Given the description of an element on the screen output the (x, y) to click on. 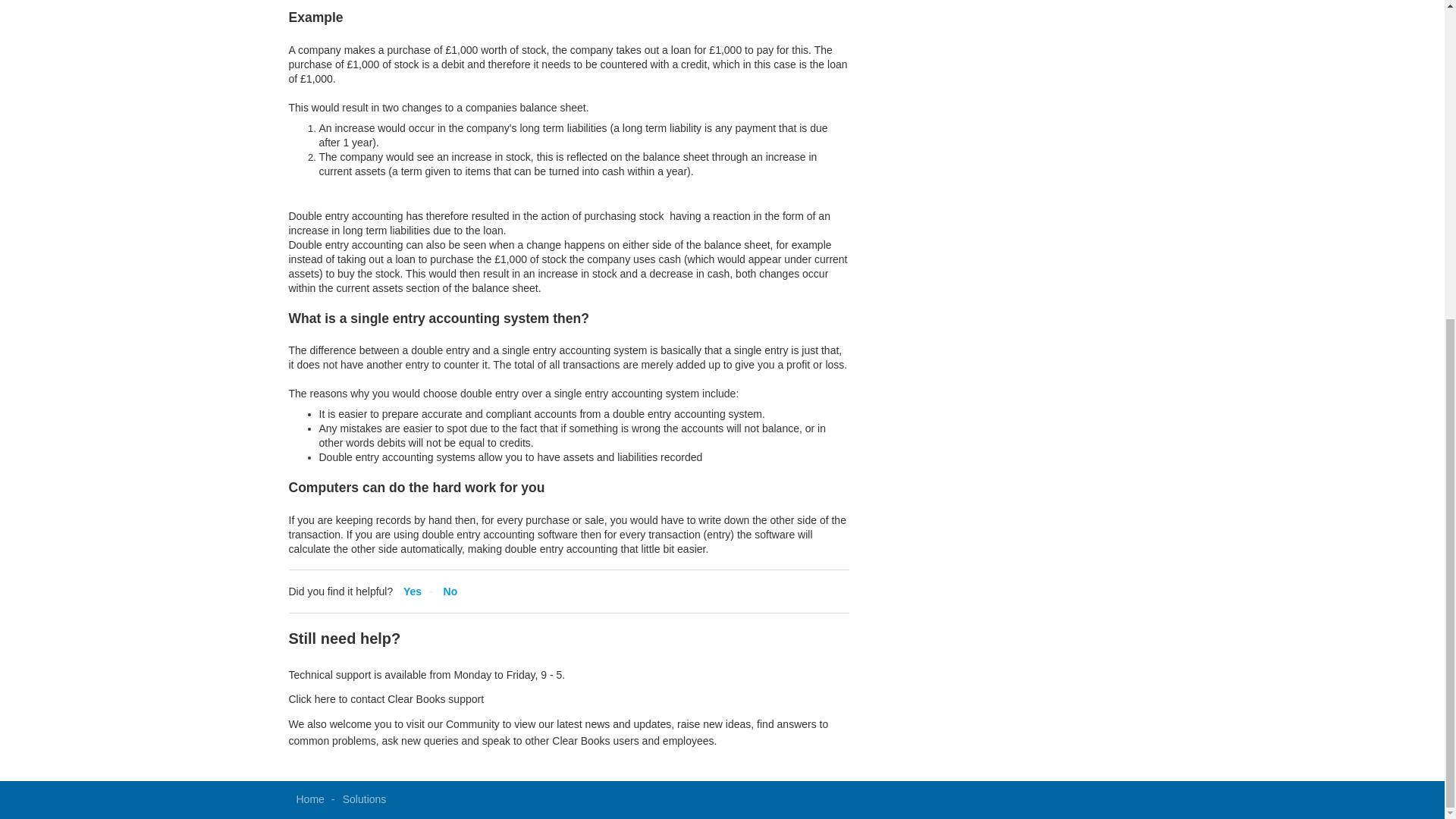
We also welcome you to visit our Community (393, 724)
Home (309, 799)
Click here to contact Clear Books support (385, 698)
Solutions (364, 799)
